Given the description of an element on the screen output the (x, y) to click on. 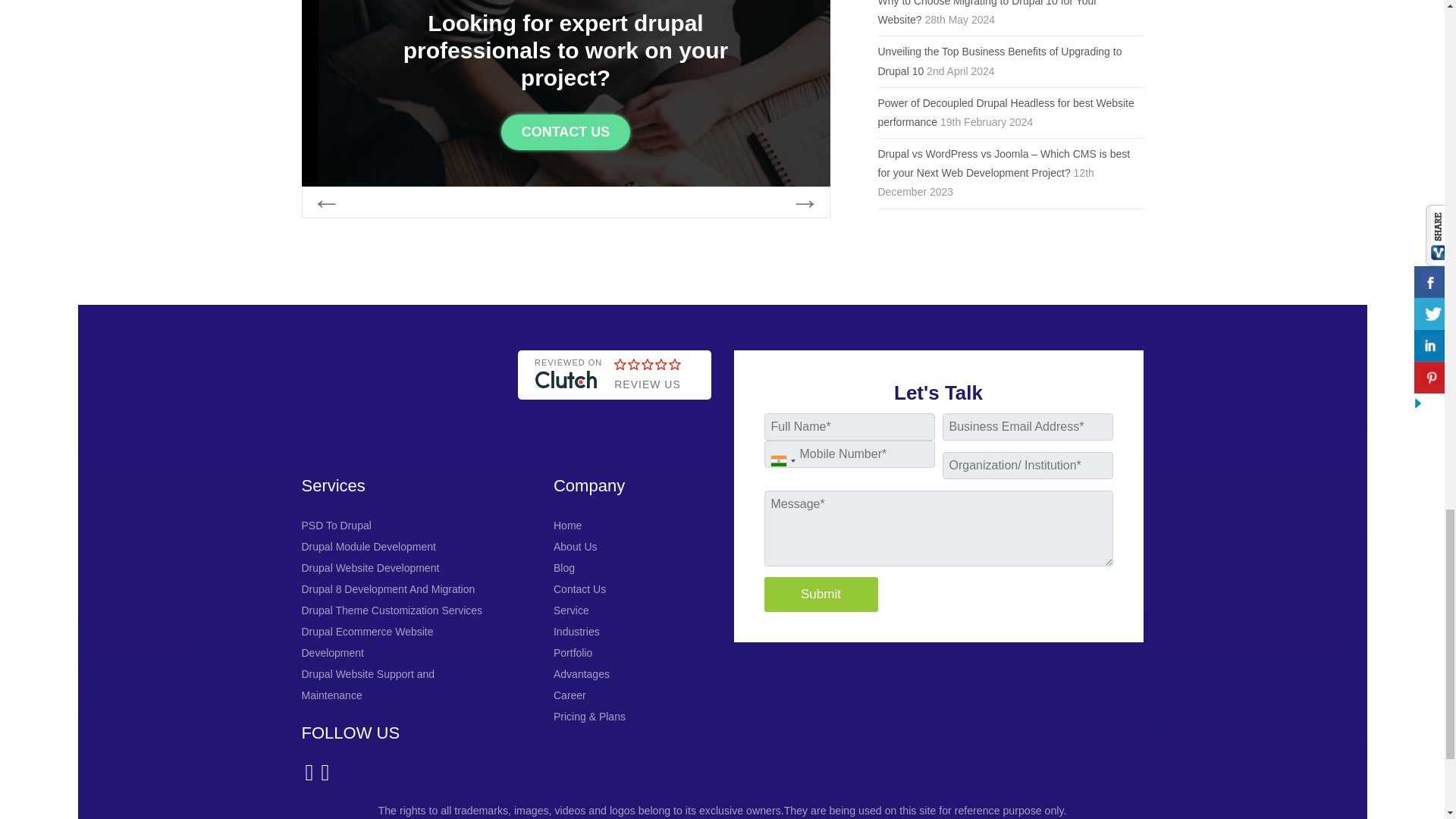
Submit (820, 594)
CONTACT US (565, 131)
Drupal India Clutch Review Widget 16 (614, 414)
